Given the description of an element on the screen output the (x, y) to click on. 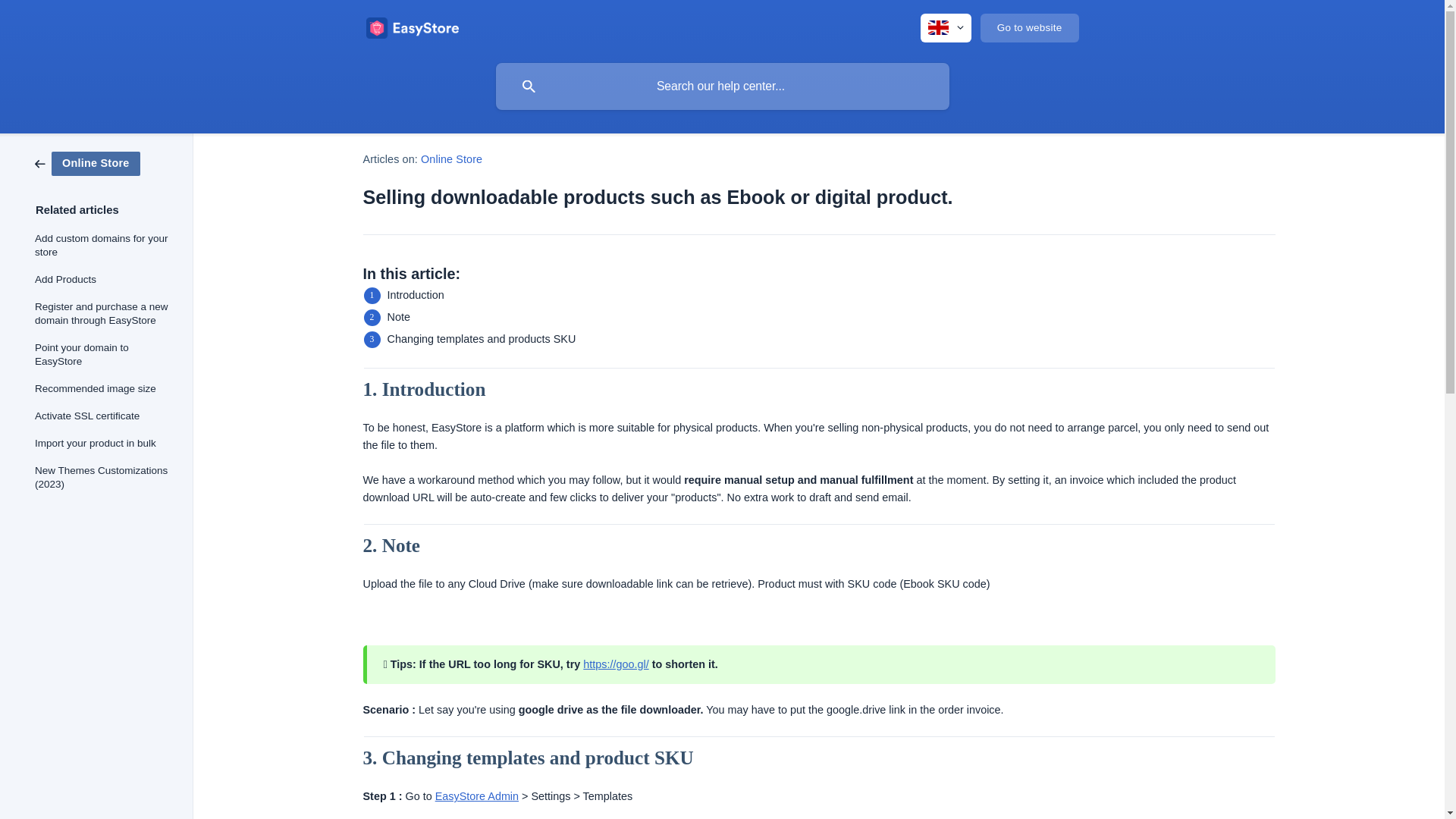
Import your product in bulk (102, 443)
Recommended image size (102, 388)
Point your domain to EasyStore (102, 354)
Online Store (450, 159)
Online Store (86, 162)
Register and purchase a new domain through EasyStore (102, 313)
Add custom domains for your store (102, 245)
Add Products (102, 279)
EasyStore Admin (476, 796)
Activate SSL certificate (102, 415)
Go to website (1028, 27)
